Given the description of an element on the screen output the (x, y) to click on. 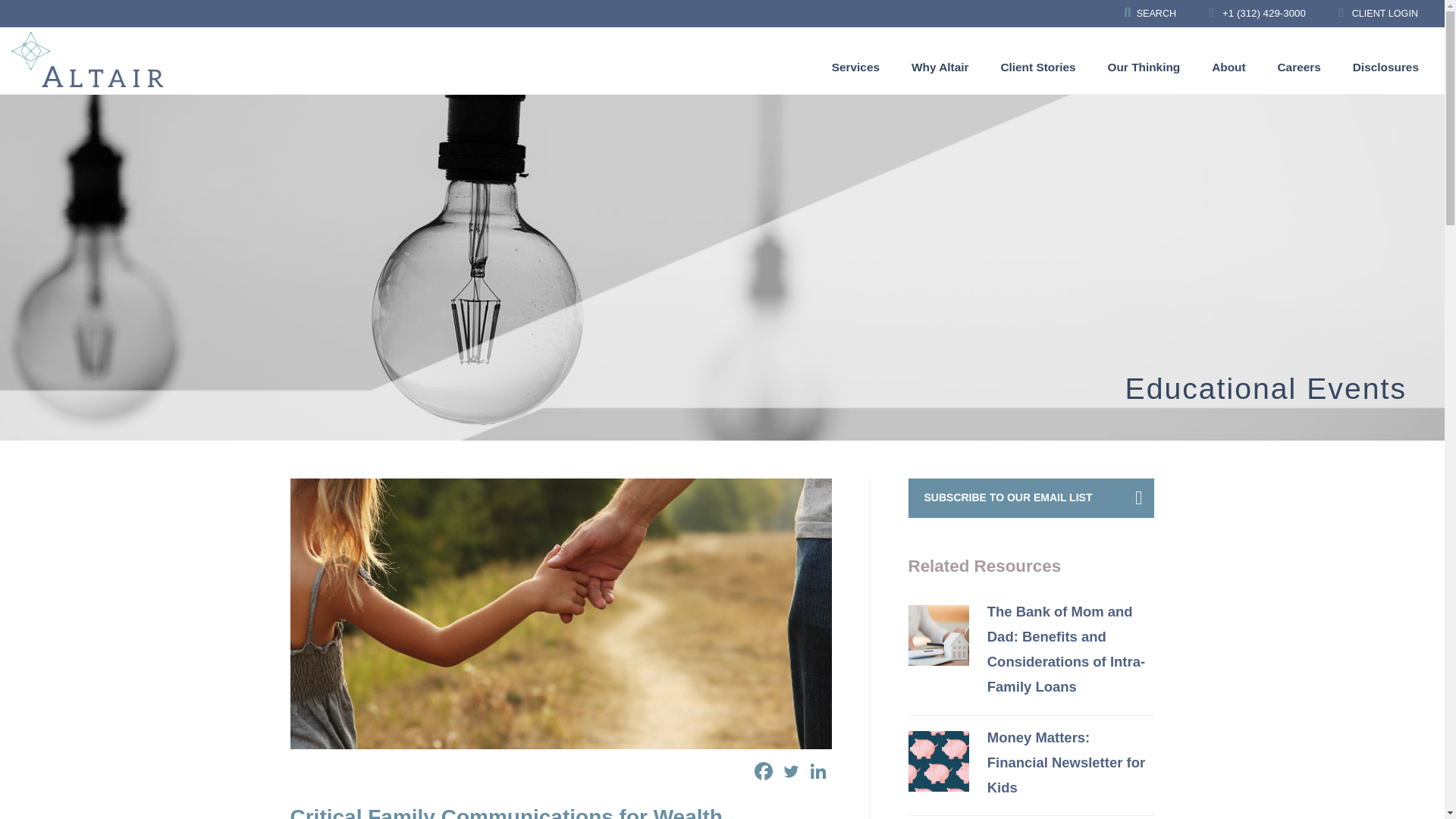
Careers (1299, 67)
Services (856, 67)
Why Altair (939, 67)
Twitter (789, 770)
Linkedin (817, 770)
SEARCH (1149, 13)
CLIENT LOGIN (1377, 13)
Client Stories (1037, 67)
About (1227, 67)
Our Thinking (1144, 67)
Facebook (762, 770)
Disclosures (1384, 67)
